Given the description of an element on the screen output the (x, y) to click on. 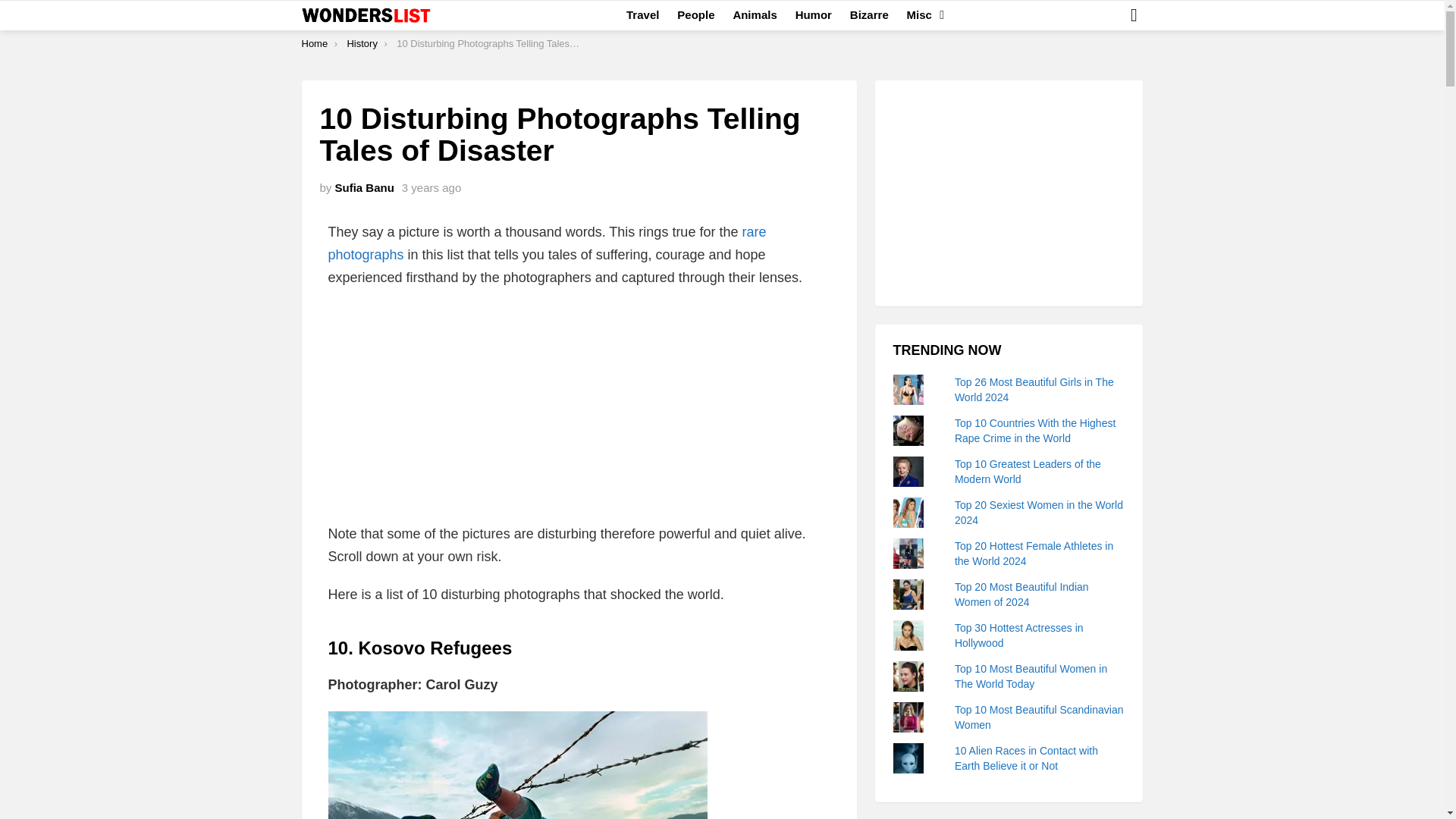
Humor (813, 15)
Posts by Sufia Banu (364, 187)
Misc (921, 15)
Travel (642, 15)
History (361, 43)
Home (315, 43)
People (695, 15)
Advertisement (578, 409)
rare photographs (546, 243)
April 22, 2021, 2:58 am (431, 187)
